Given the description of an element on the screen output the (x, y) to click on. 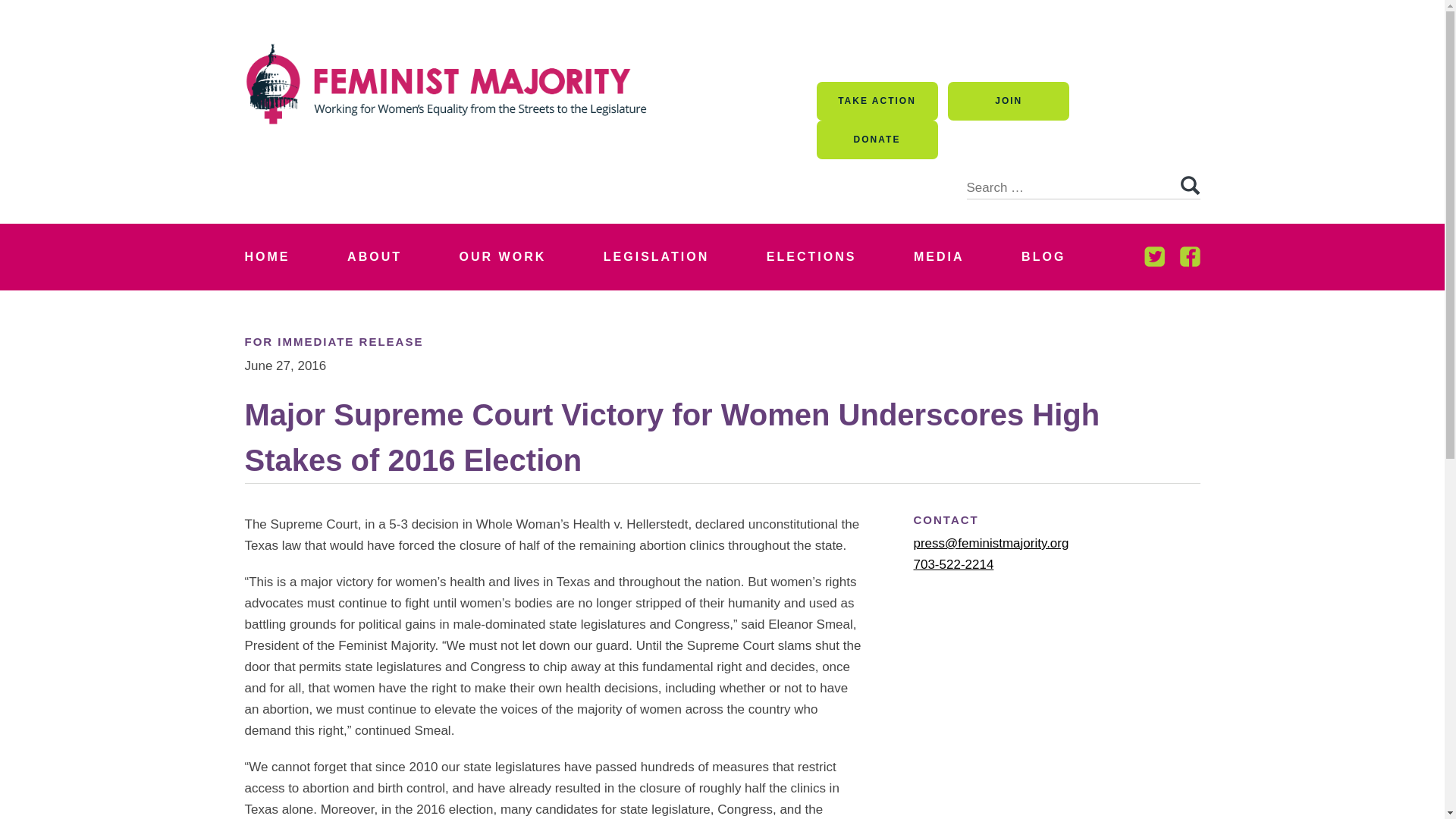
ABOUT (373, 256)
LEGISLATION (656, 256)
TAKE ACTION (876, 100)
FACEBOOK (1189, 256)
JOIN (1007, 100)
Search (1189, 185)
MEDIA (938, 256)
ELECTIONS (811, 256)
703-522-2214 (952, 564)
DONATE (876, 139)
